Given the description of an element on the screen output the (x, y) to click on. 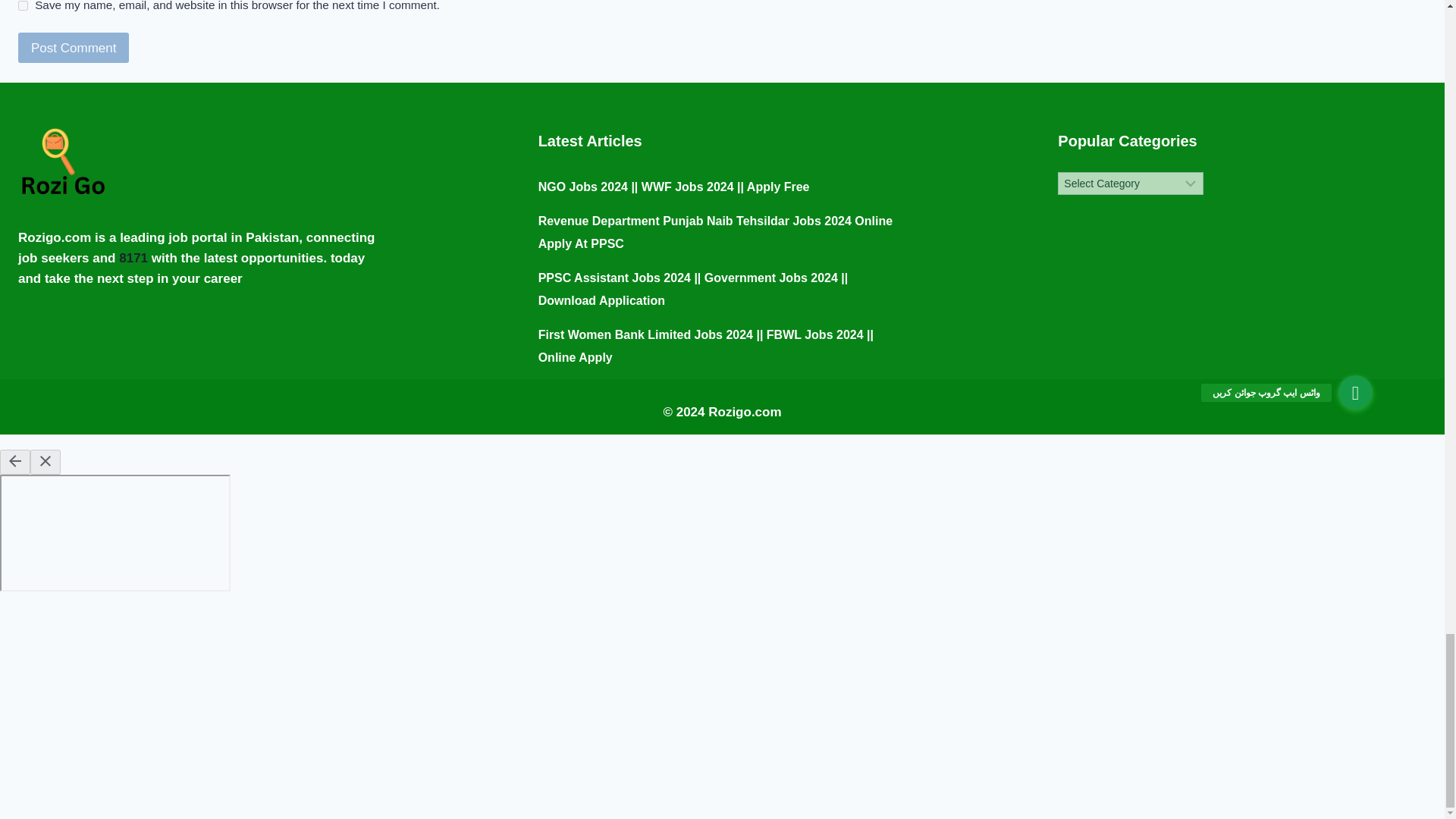
Post Comment (73, 47)
yes (22, 5)
